Given the description of an element on the screen output the (x, y) to click on. 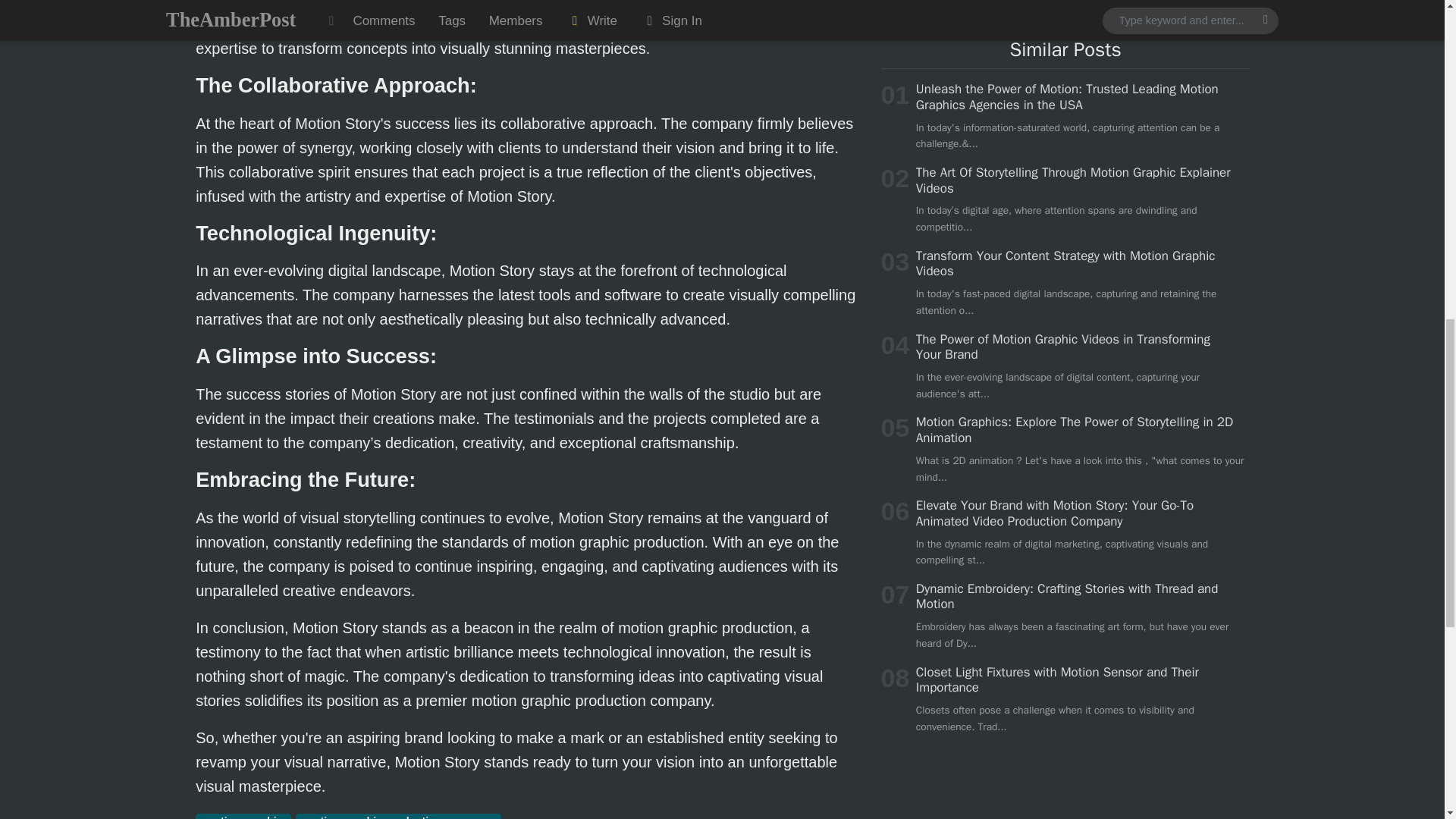
motion graphic production company (397, 816)
motion graphic (243, 816)
motion graphic production company (397, 816)
motion graphic (243, 816)
